Given the description of an element on the screen output the (x, y) to click on. 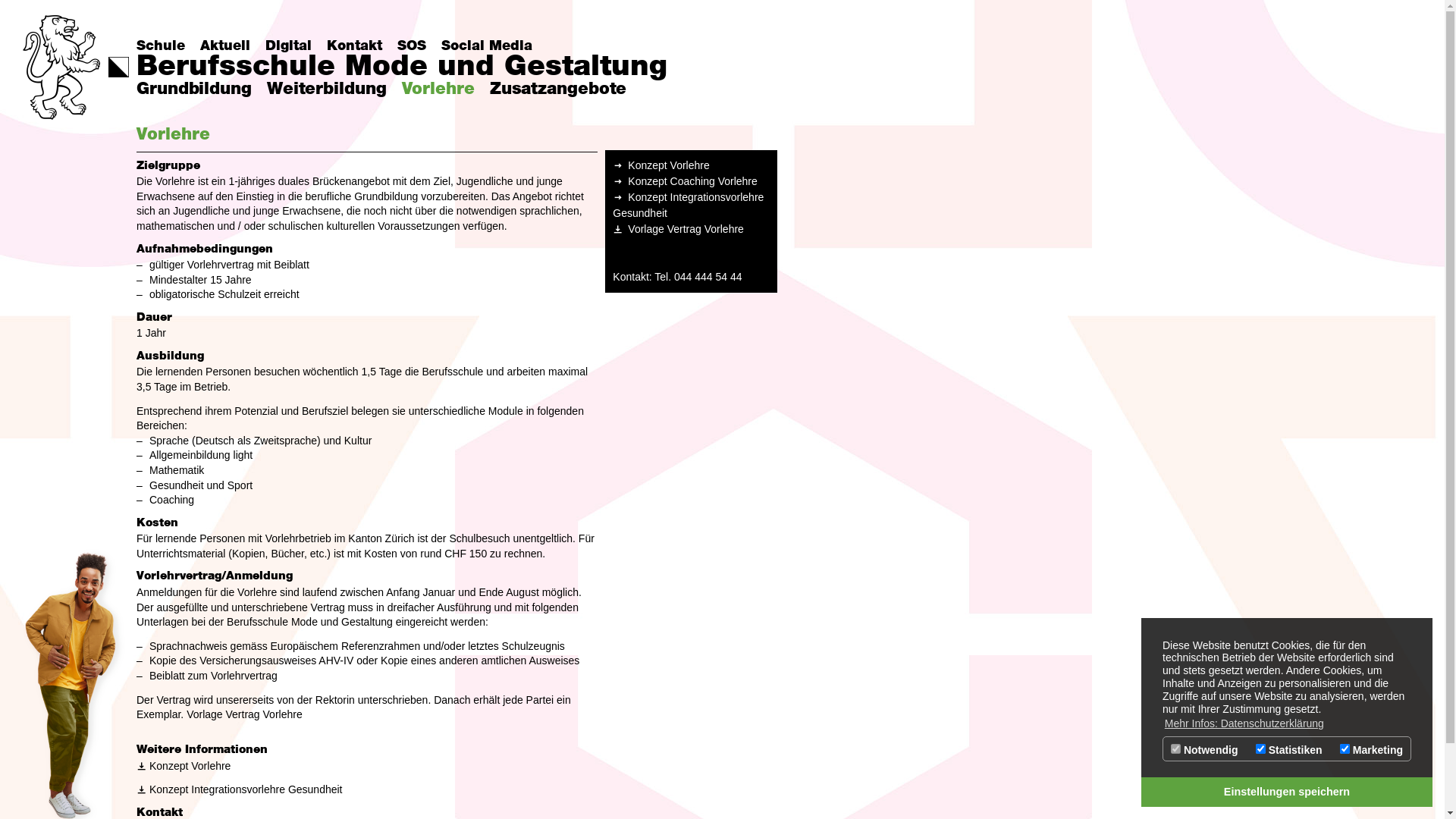
Einstellungen speichern Element type: text (1286, 791)
Schule Element type: text (160, 46)
Aktuell Element type: text (225, 46)
Social Media Element type: text (486, 46)
Kontakt Element type: text (354, 46)
Konzept Integrationsvorlehre Gesundheit Element type: text (239, 789)
Berufsschule Mode und Gestaltung Element type: text (401, 66)
Konzept Coaching Vorlehre Element type: text (684, 181)
Konzept Vorlehre Element type: text (183, 765)
Digital Element type: text (288, 46)
Grundbildung Element type: text (193, 88)
Vorlehre Element type: text (437, 88)
Konzept Vorlehre Element type: text (660, 165)
Weiterbildung Element type: text (326, 88)
Konzept Integrationsvorlehre Gesundheit Element type: text (690, 205)
Home Element type: hover (61, 67)
Zusatzangebote Element type: text (558, 88)
SOS Element type: text (411, 46)
Vorlage Vertrag Vorlehre Element type: text (677, 229)
